Given the description of an element on the screen output the (x, y) to click on. 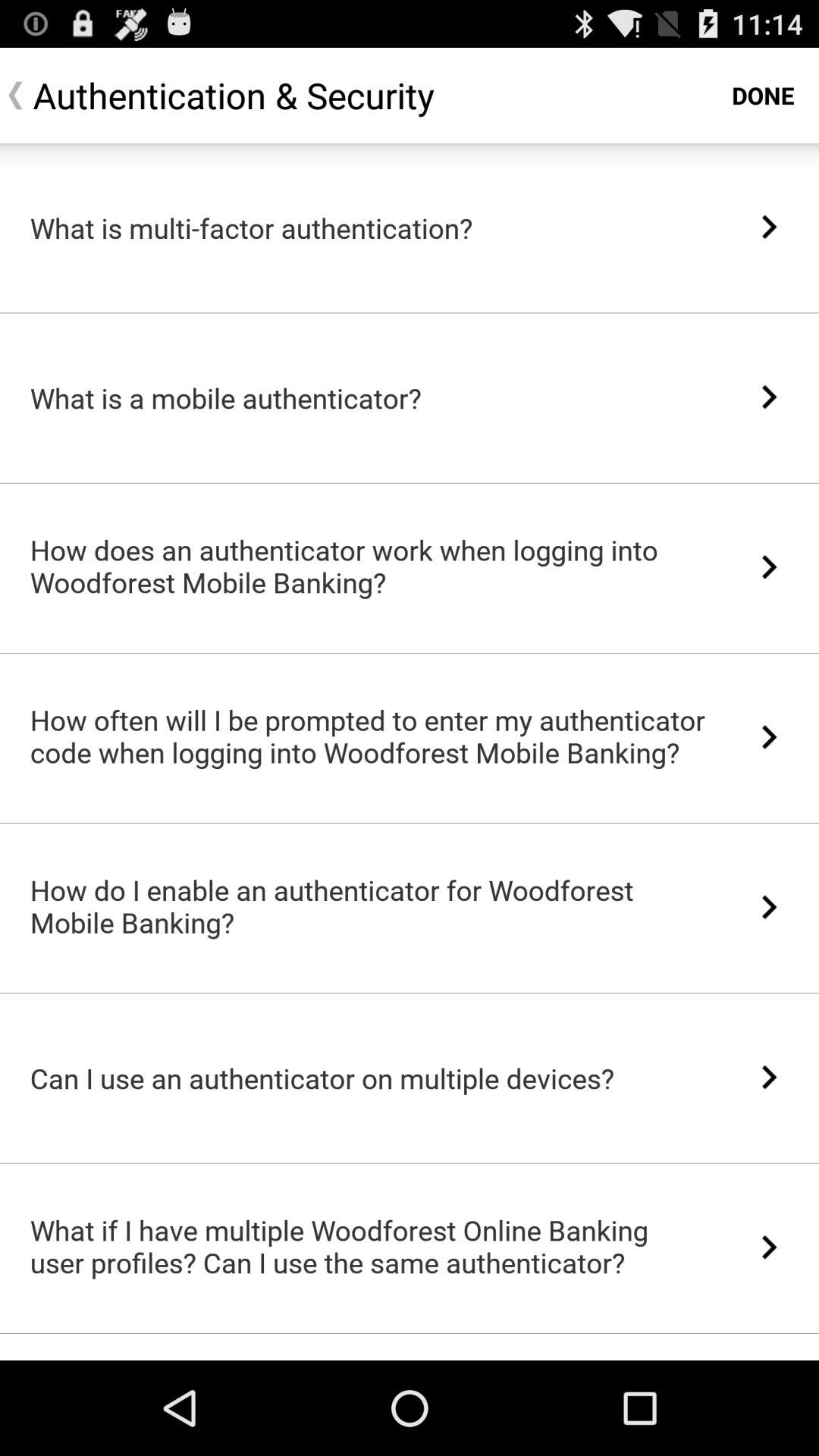
click the item next to the how often will item (768, 736)
